Given the description of an element on the screen output the (x, y) to click on. 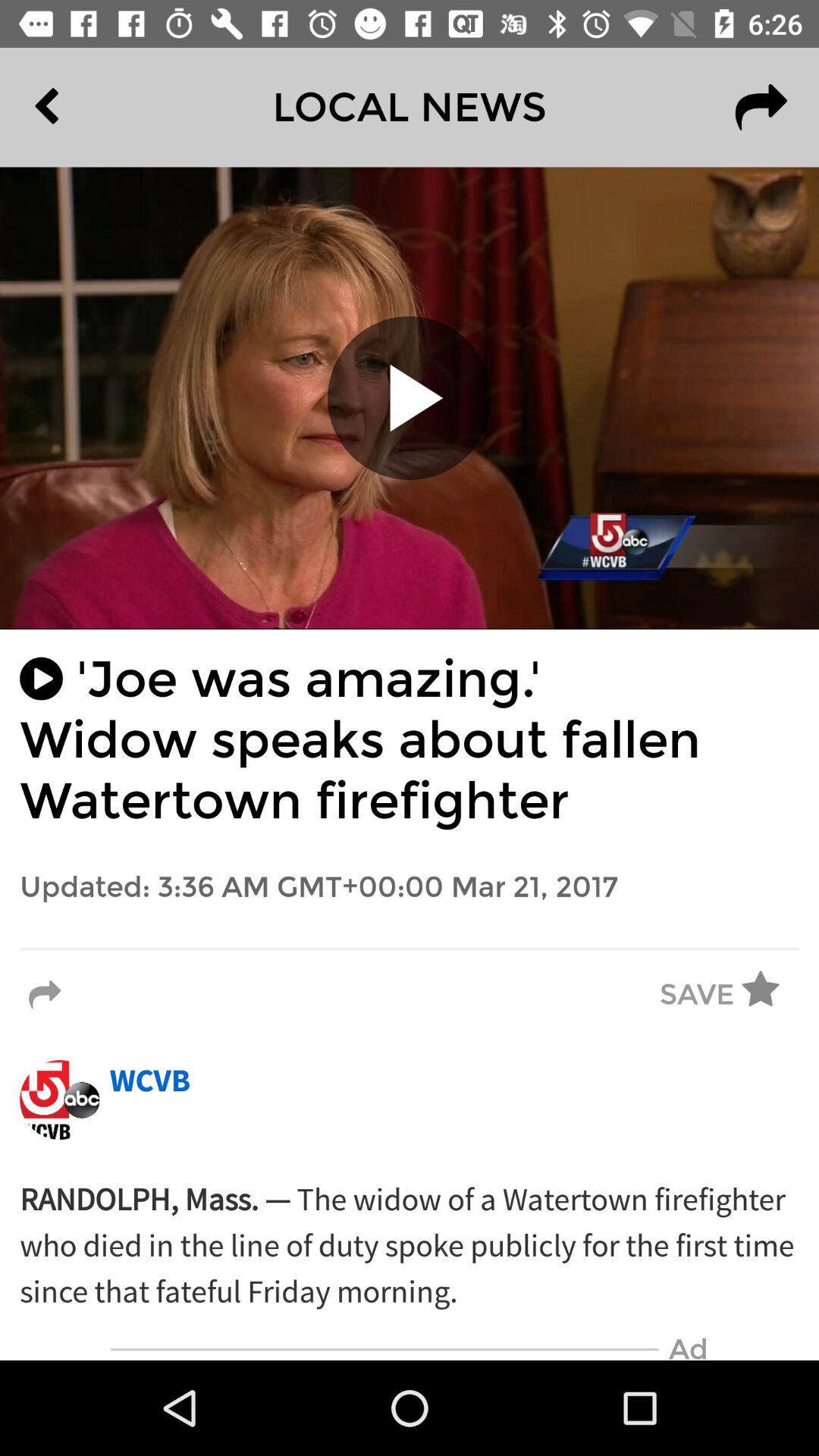
click icon next to the save item (770, 995)
